Given the description of an element on the screen output the (x, y) to click on. 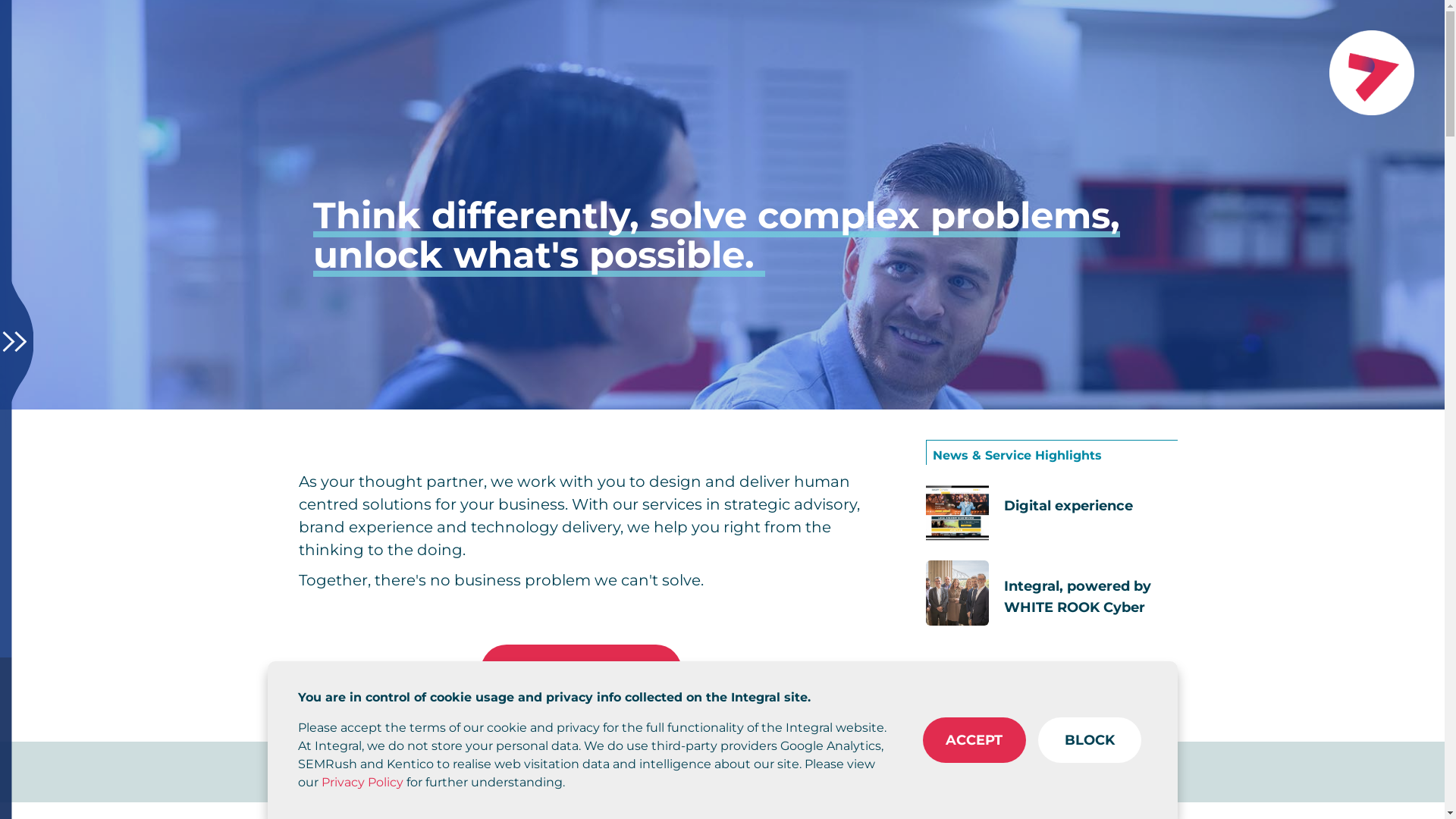
technology delivery Element type: text (545, 526)
strategic advisory Element type: text (790, 504)
Privacy Policy Element type: text (362, 782)
Integral, powered by WHITE ROOK Cyber Element type: text (1050, 592)
brand experience Element type: text (365, 526)
Digital experience Element type: text (1050, 512)
